Given the description of an element on the screen output the (x, y) to click on. 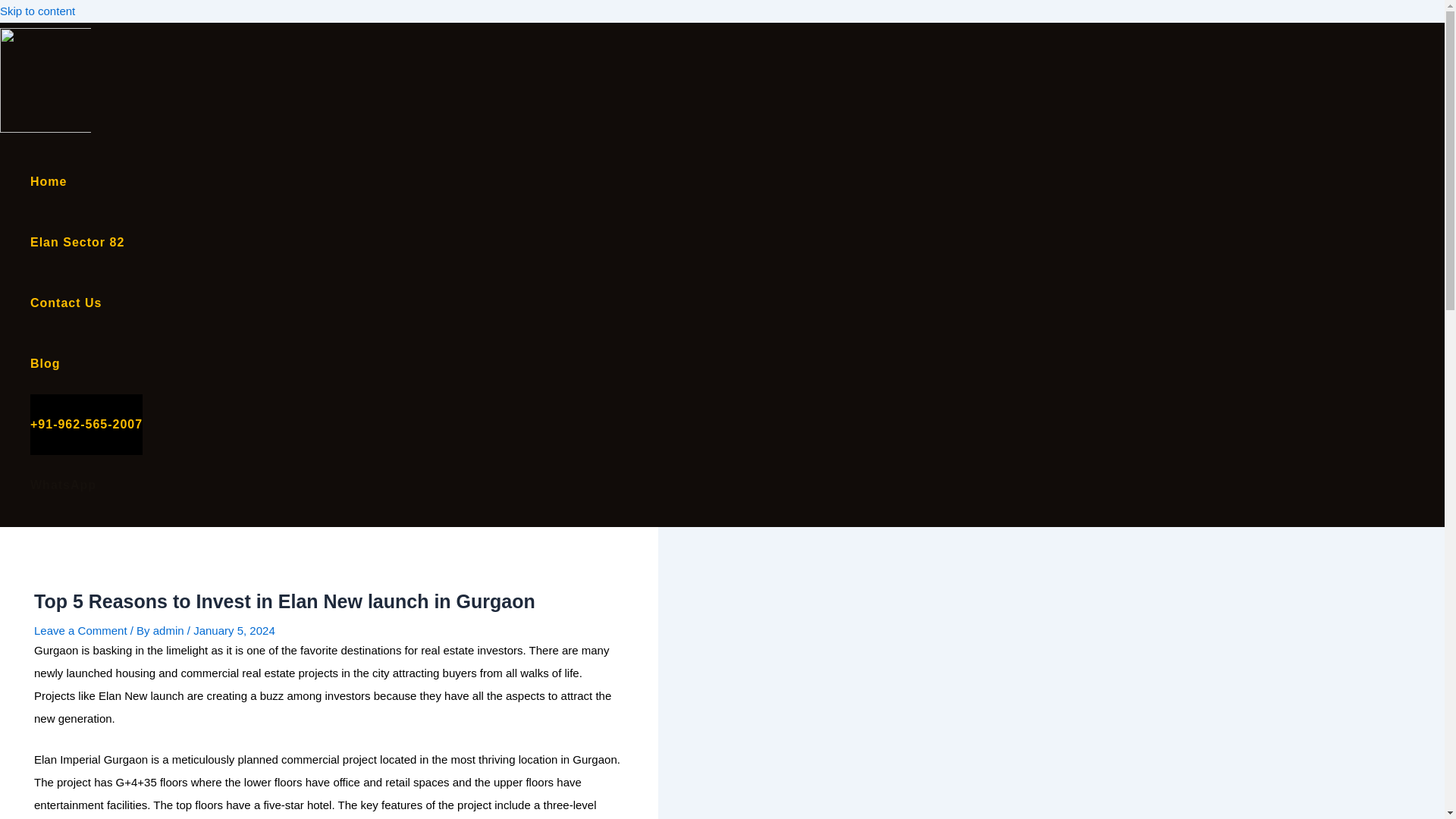
Home (86, 181)
Blog (86, 363)
Skip to content (37, 10)
Contact Us (86, 302)
WhatsApp (86, 485)
View all posts by admin (169, 630)
admin (169, 630)
Skip to content (37, 10)
Leave a Comment (80, 630)
Elan Sector 82 (86, 242)
